Given the description of an element on the screen output the (x, y) to click on. 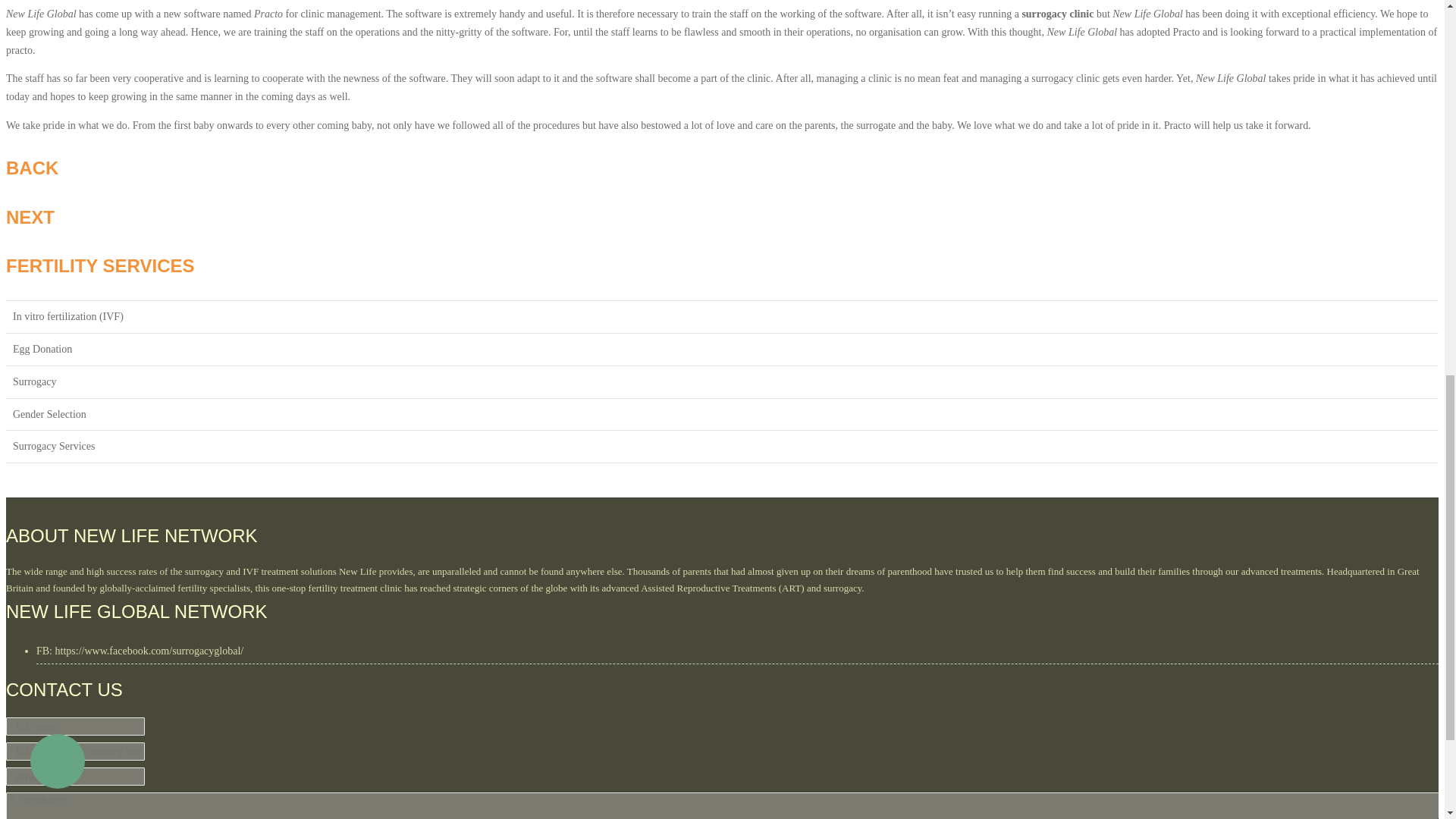
NEXT   (34, 217)
BACK (31, 168)
Egg Donation (42, 348)
Gender Selection (49, 414)
Surrogacy (34, 381)
Surrogacy Services (53, 446)
